Given the description of an element on the screen output the (x, y) to click on. 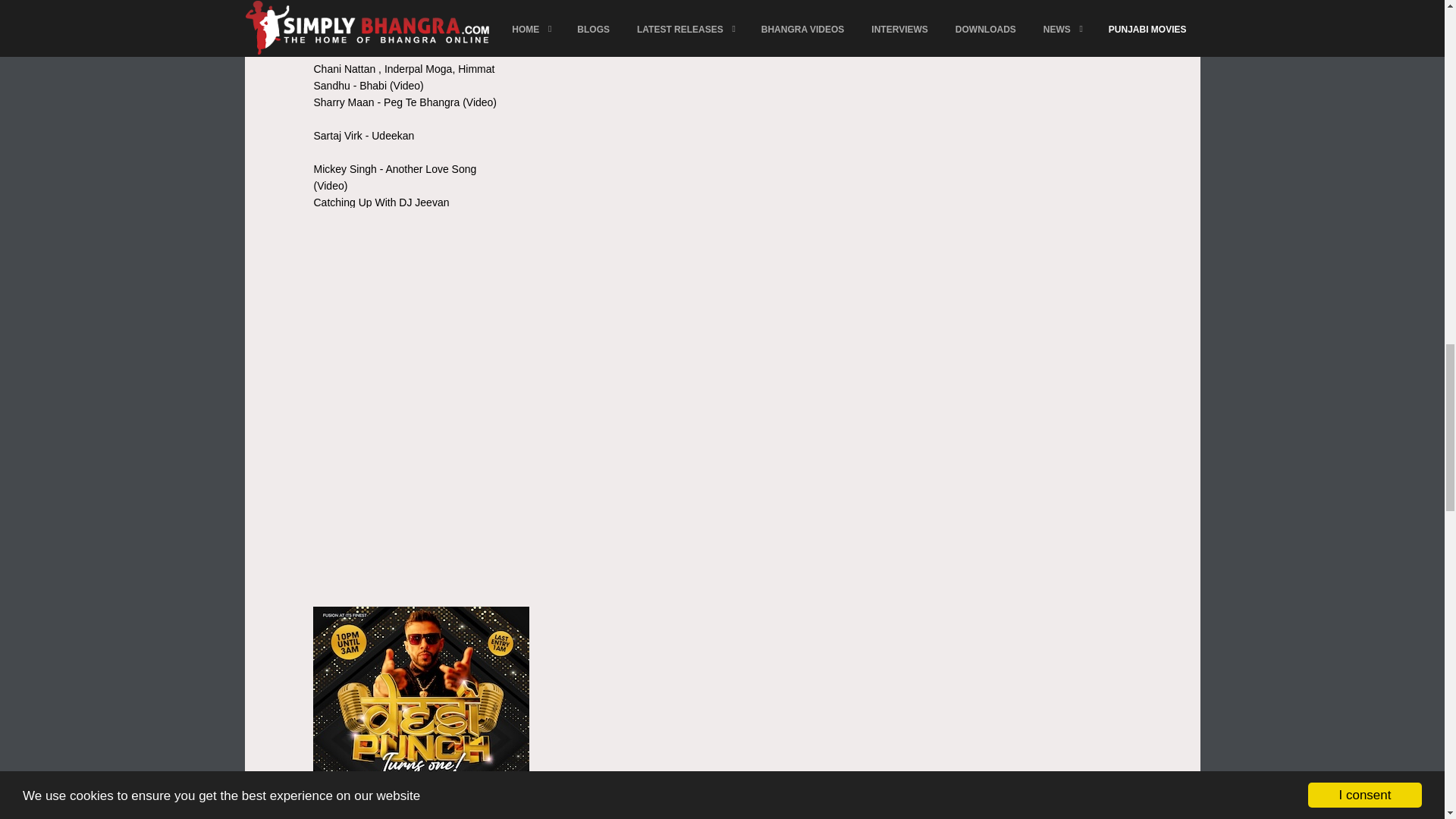
Sartaj Virk - Udeekan (364, 135)
Feroz Khan - Pagal (360, 35)
Catching Up With DJ Jeevan (381, 202)
